Given the description of an element on the screen output the (x, y) to click on. 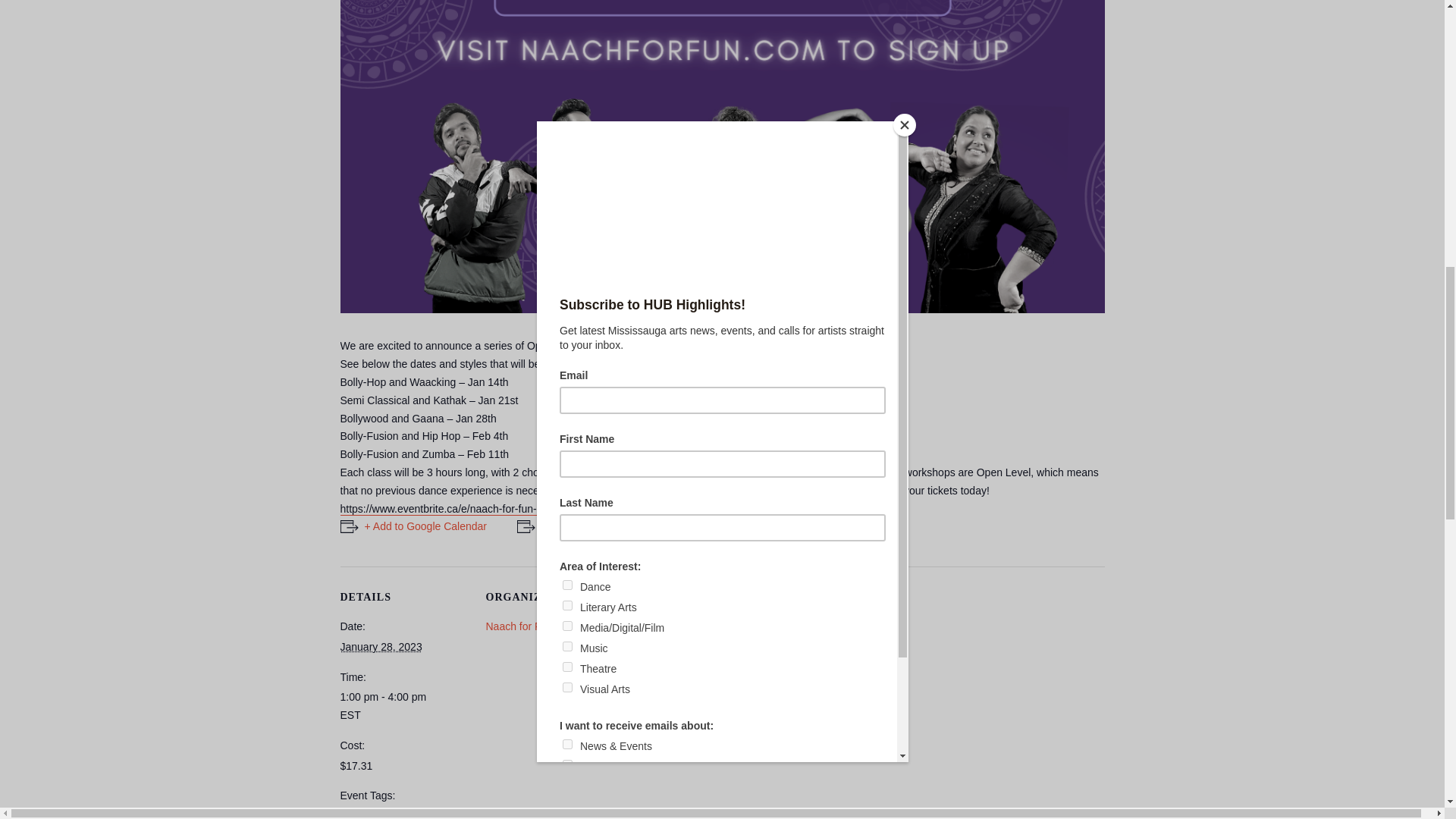
Naach for Fun (518, 625)
Click to view a Google Map (683, 698)
Add to Google Calendar (412, 526)
naachforfun.com (631, 490)
Add to iCalendar (572, 526)
2023-01-28 (380, 646)
Ontario (712, 668)
2023-01-28 (403, 706)
